Given the description of an element on the screen output the (x, y) to click on. 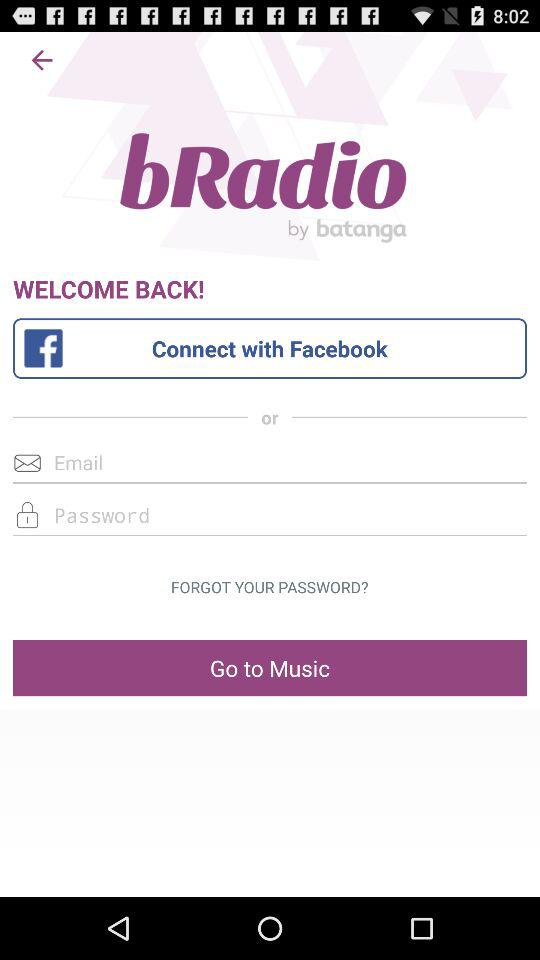
press app below the welcome back! item (269, 348)
